Given the description of an element on the screen output the (x, y) to click on. 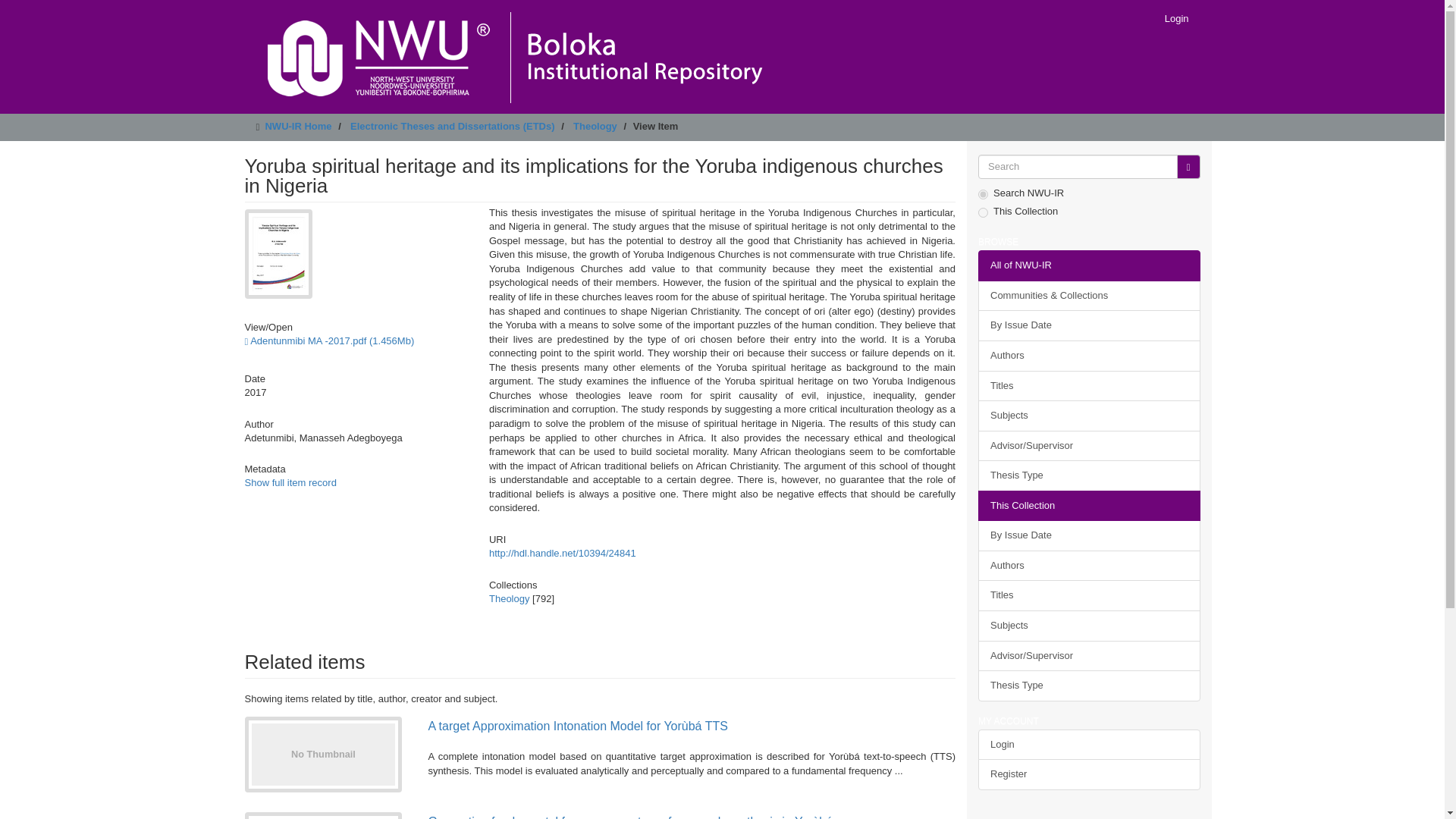
Theology (595, 125)
Authors (1088, 565)
Show full item record (290, 482)
Login (1176, 18)
Subjects (1088, 415)
Theology (509, 598)
All of NWU-IR (1088, 265)
Thesis Type (1088, 475)
By Issue Date (1088, 325)
Authors (1088, 355)
Titles (1088, 385)
Go (1187, 166)
This Collection (1088, 505)
By Issue Date (1088, 535)
NWU-IR Home (297, 125)
